Given the description of an element on the screen output the (x, y) to click on. 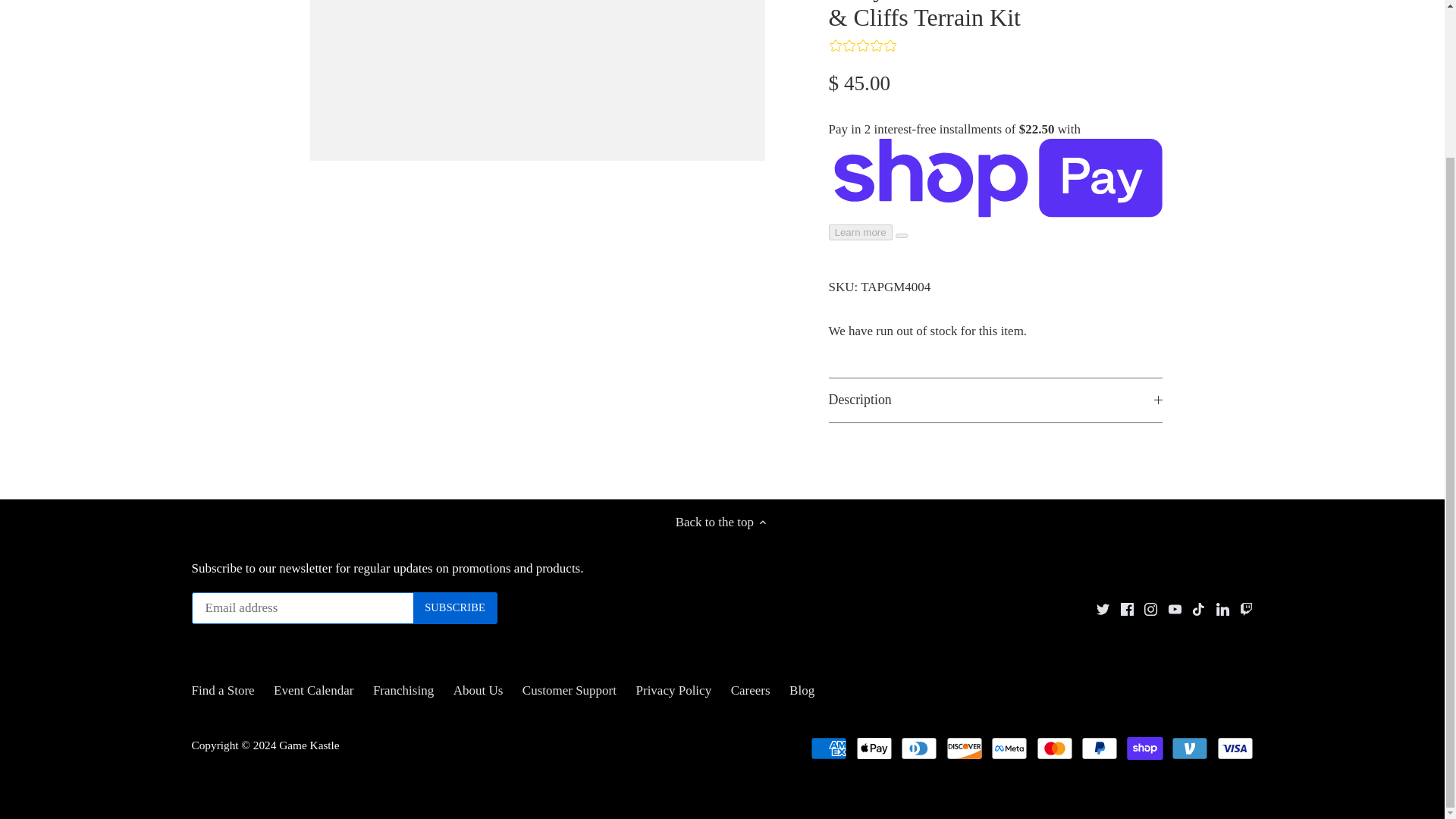
Instagram (1150, 608)
Facebook (1127, 608)
Twitter (1102, 608)
Subscribe (455, 608)
Youtube (1175, 608)
